Given the description of an element on the screen output the (x, y) to click on. 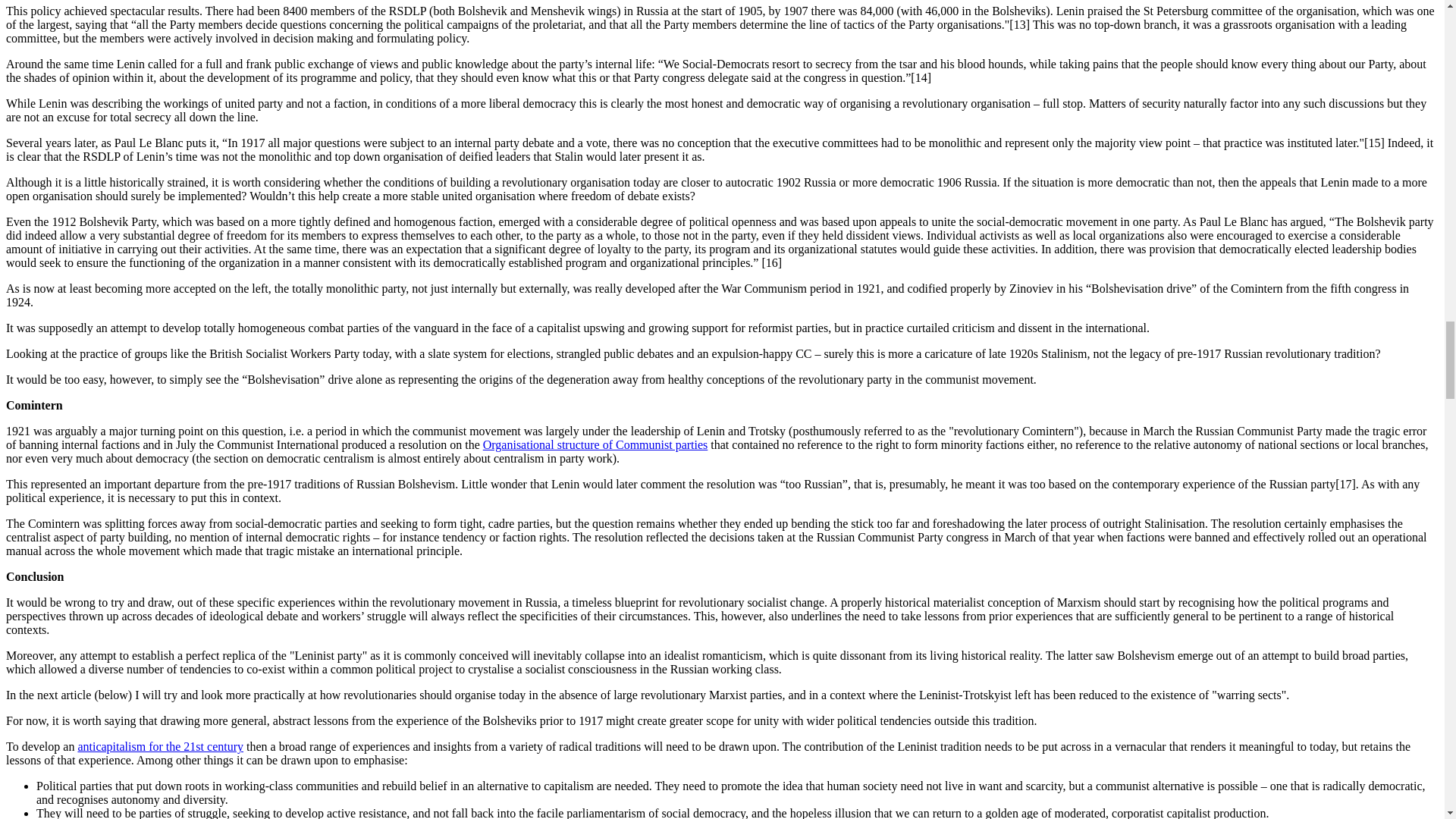
anticapitalism for the 21st century (160, 746)
Organisational structure of Communist parties (595, 444)
